Given the description of an element on the screen output the (x, y) to click on. 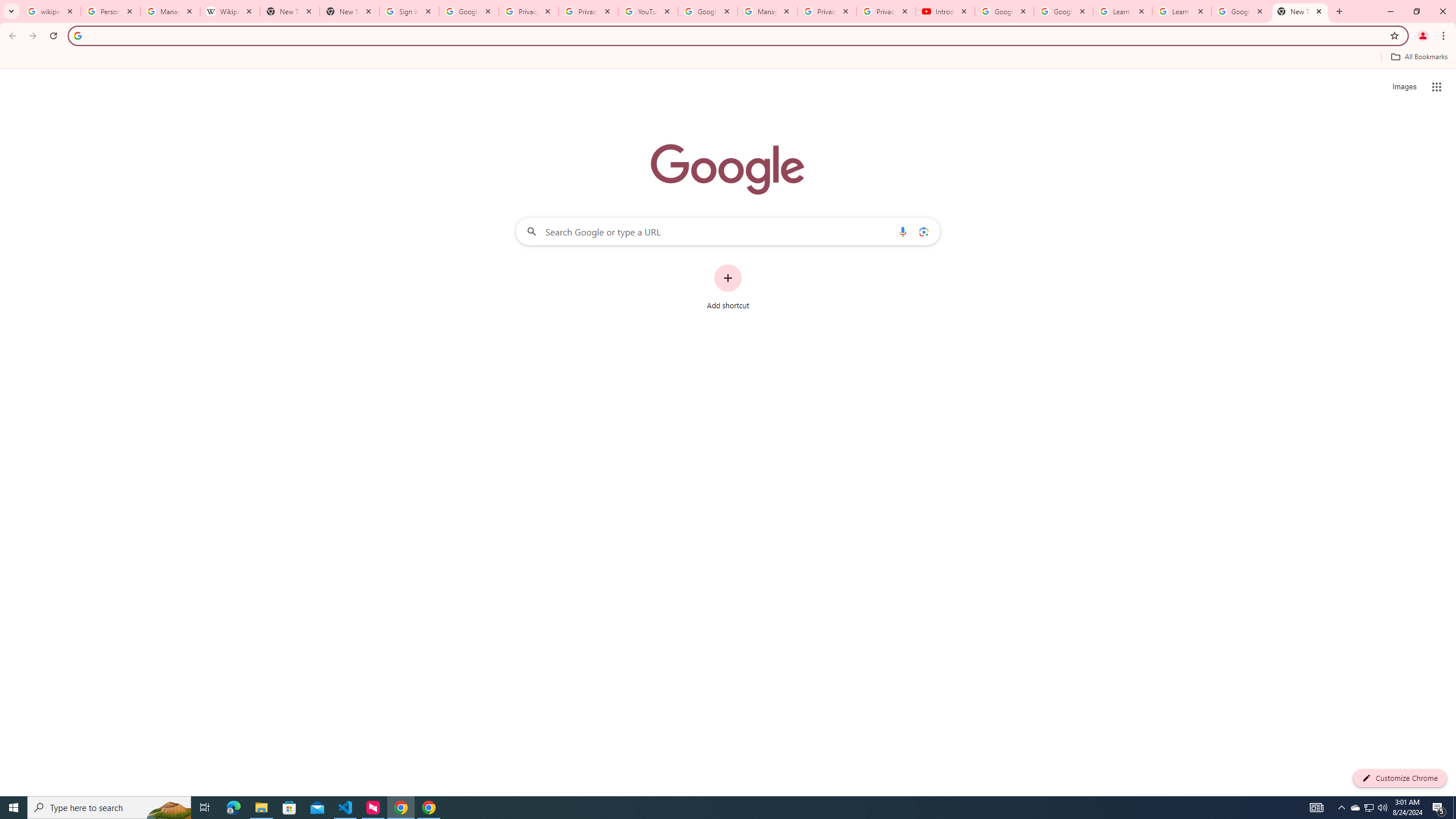
Google Account (1241, 11)
Sign in - Google Accounts (409, 11)
Wikipedia:Edit requests - Wikipedia (229, 11)
